Given the description of an element on the screen output the (x, y) to click on. 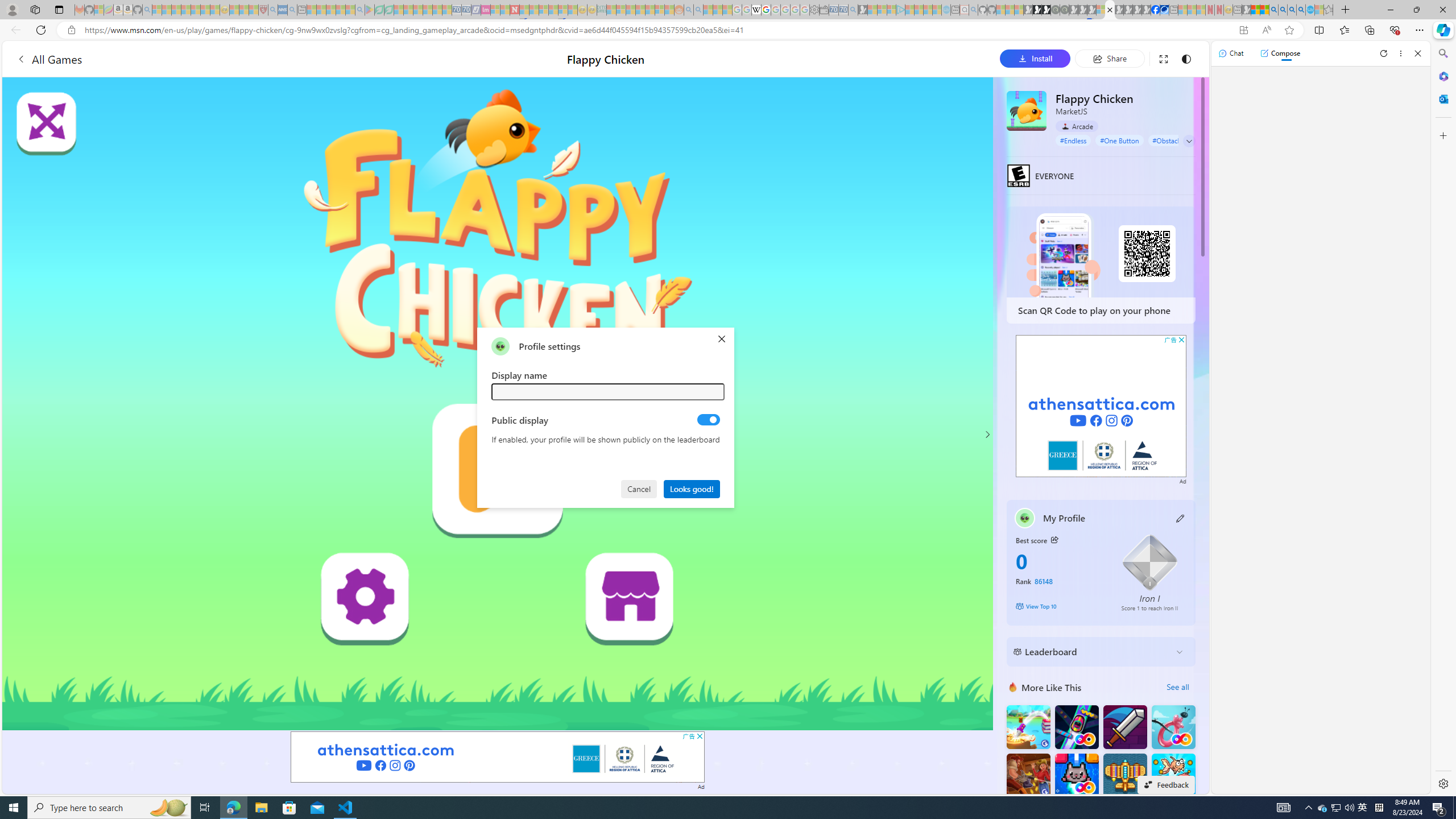
App available. Install Flappy Chicken (1243, 29)
Nordace | Facebook (1154, 9)
AutomationID: canvas (497, 403)
